Given the description of an element on the screen output the (x, y) to click on. 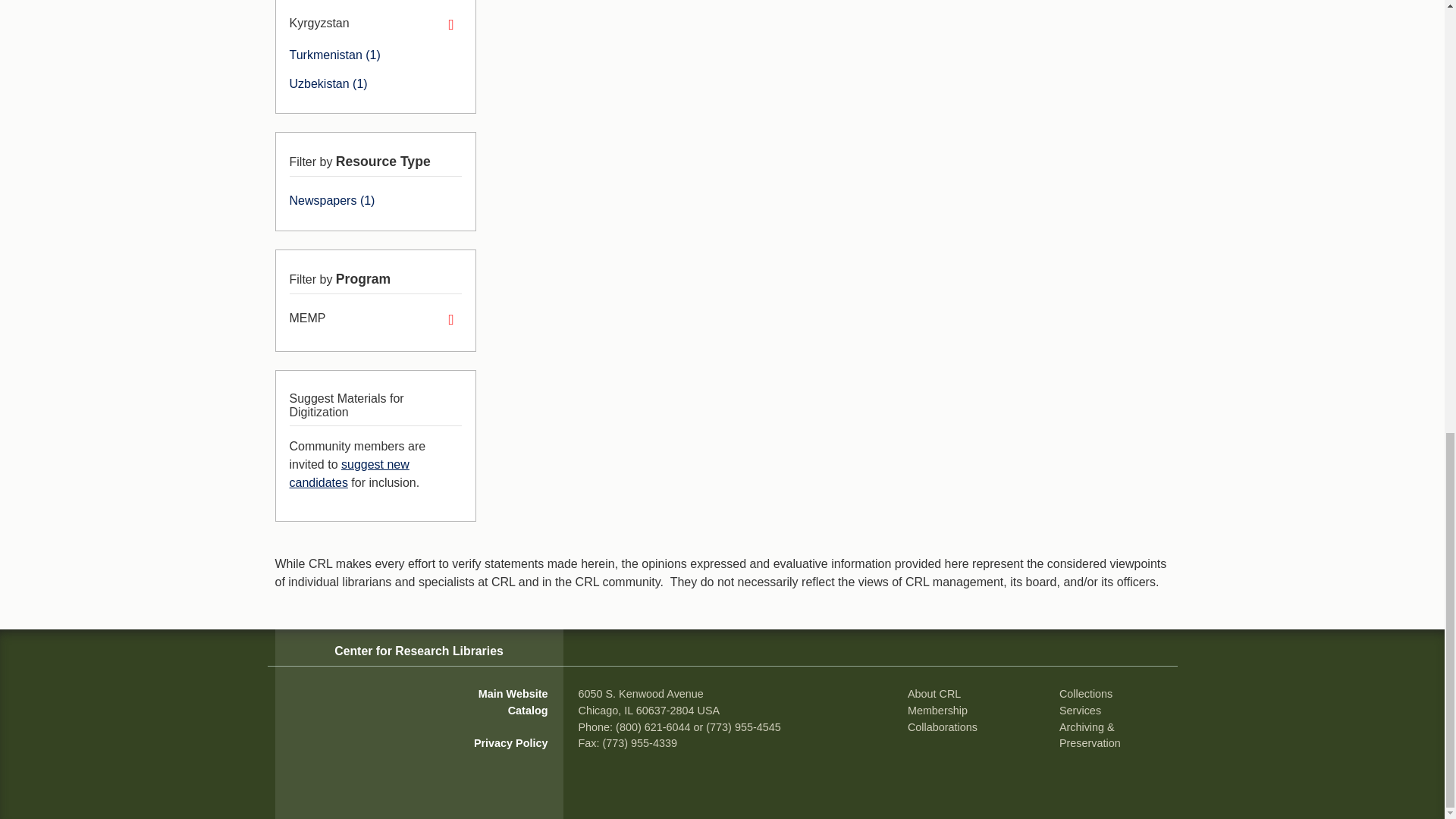
Center for Research Libraries (418, 650)
Main Website (513, 693)
Collaborations (941, 727)
Catalog (528, 710)
Privacy Policy (511, 743)
suggest new candidates (349, 472)
About CRL (933, 693)
Membership (937, 710)
